Given the description of an element on the screen output the (x, y) to click on. 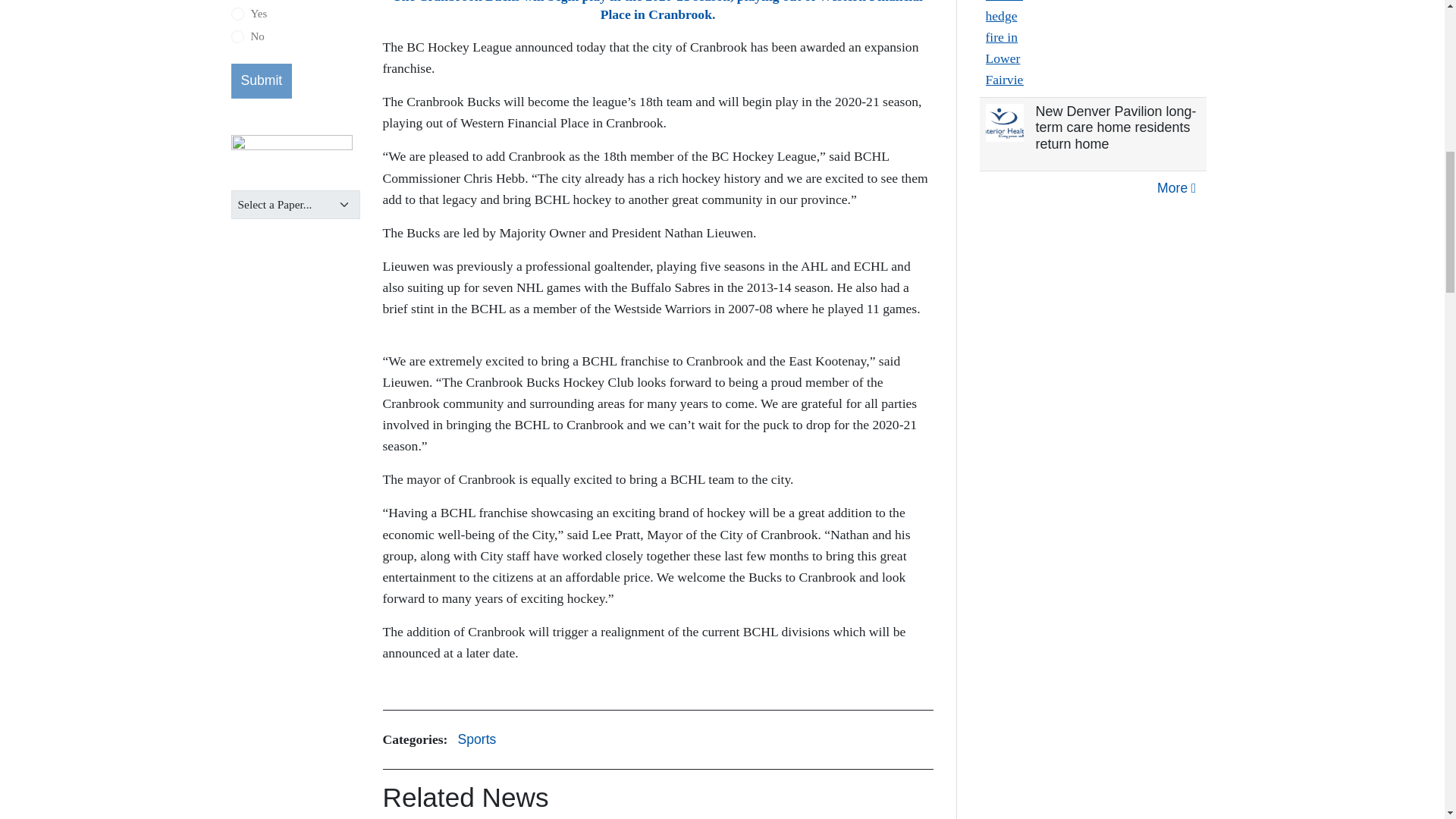
Submit (261, 80)
gpoll21fab29bd (237, 37)
More (1176, 188)
gpoll24ce86b7a (237, 14)
Sports (475, 739)
Submit (261, 80)
